Given the description of an element on the screen output the (x, y) to click on. 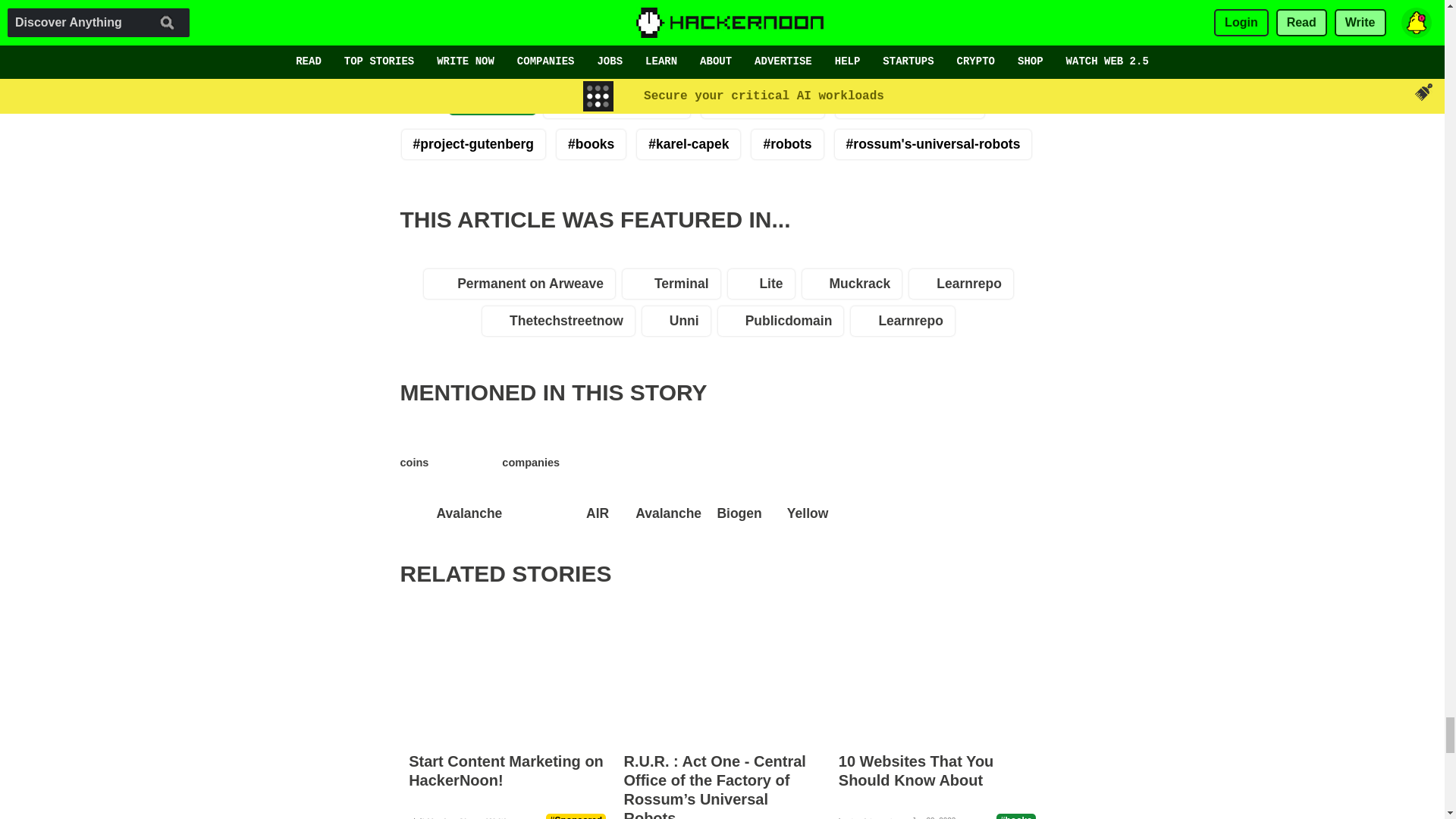
Avalanche (664, 479)
AIR (593, 479)
Avalanche (465, 479)
Biogen (735, 479)
Yellow (804, 479)
